Given the description of an element on the screen output the (x, y) to click on. 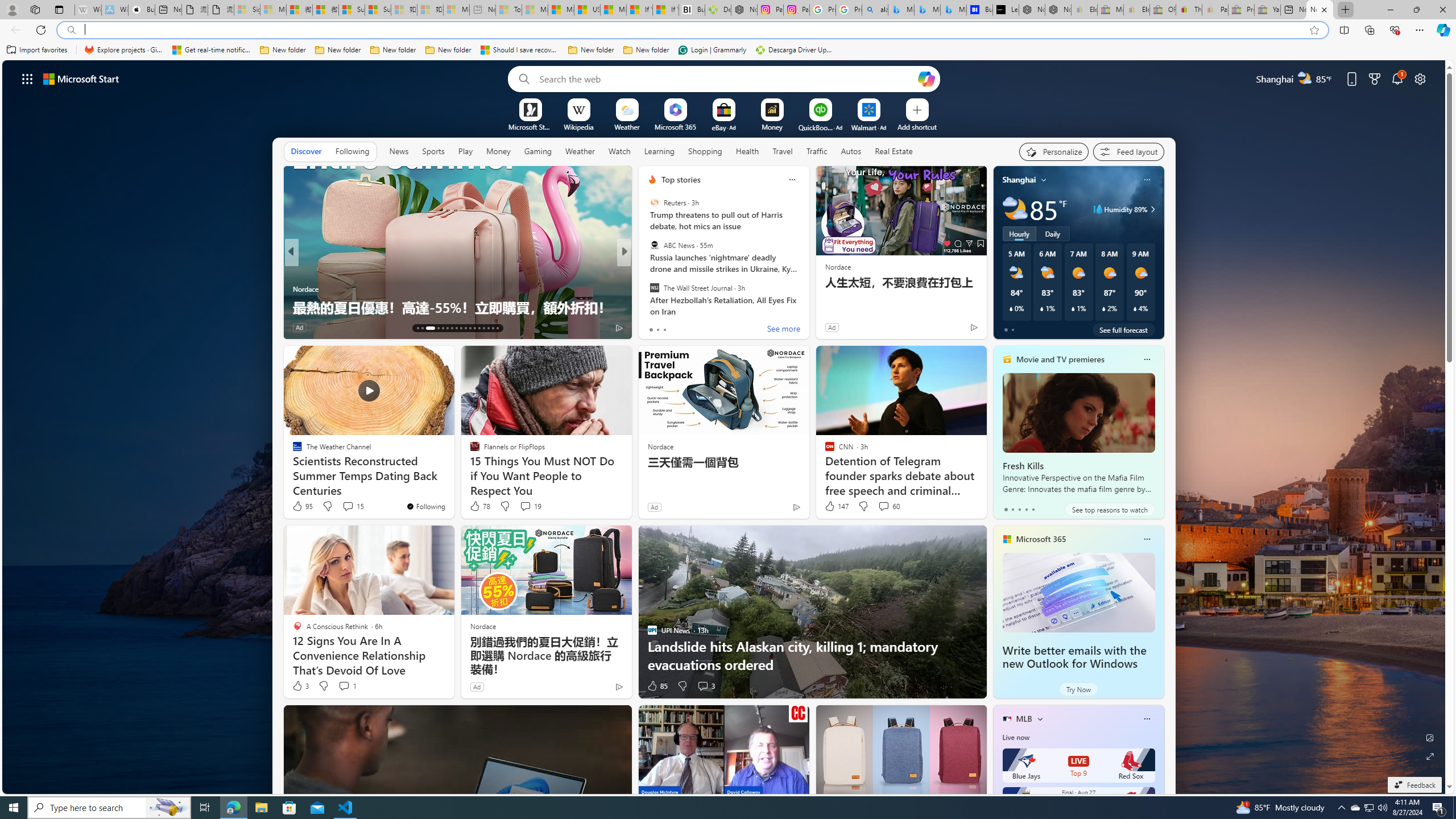
My location (1043, 179)
View comments 22 Comment (707, 327)
Partly cloudy (1014, 208)
Wikipedia - Sleeping (87, 9)
 UPI News (647, 270)
The Wall Street Journal (654, 287)
